Given the description of an element on the screen output the (x, y) to click on. 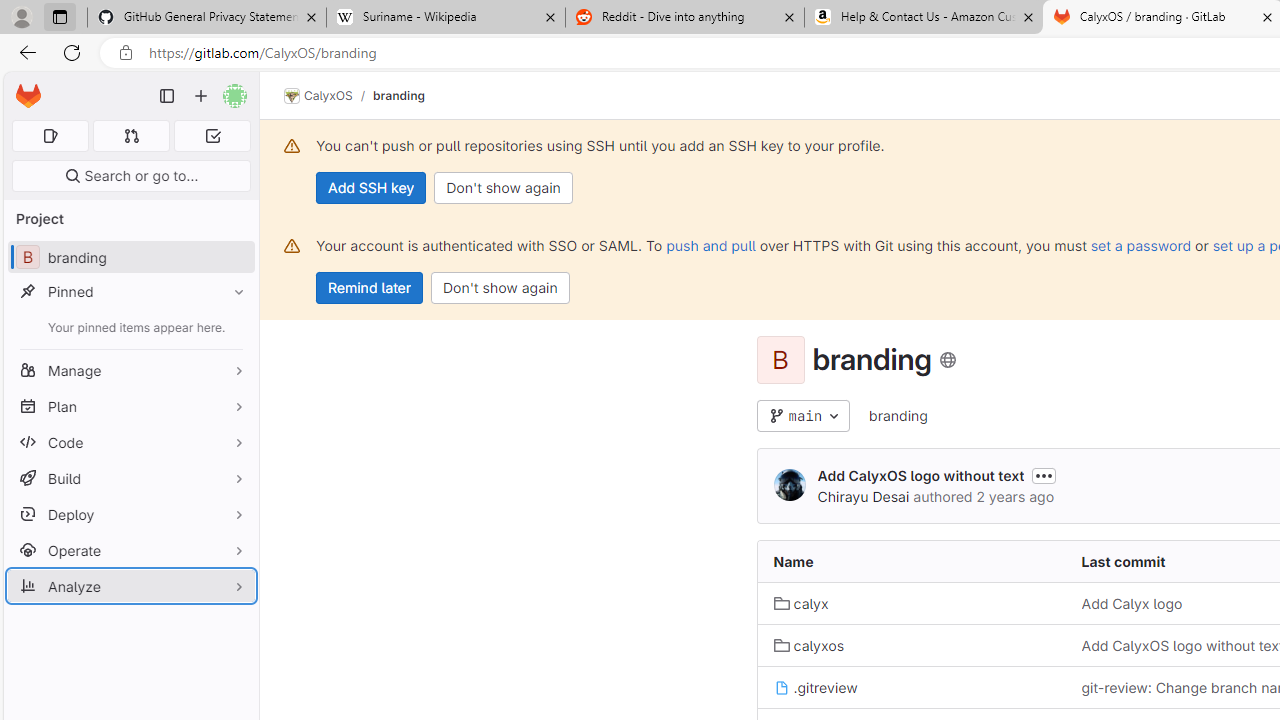
Remind later (369, 287)
CalyxOS (318, 96)
